Given the description of an element on the screen output the (x, y) to click on. 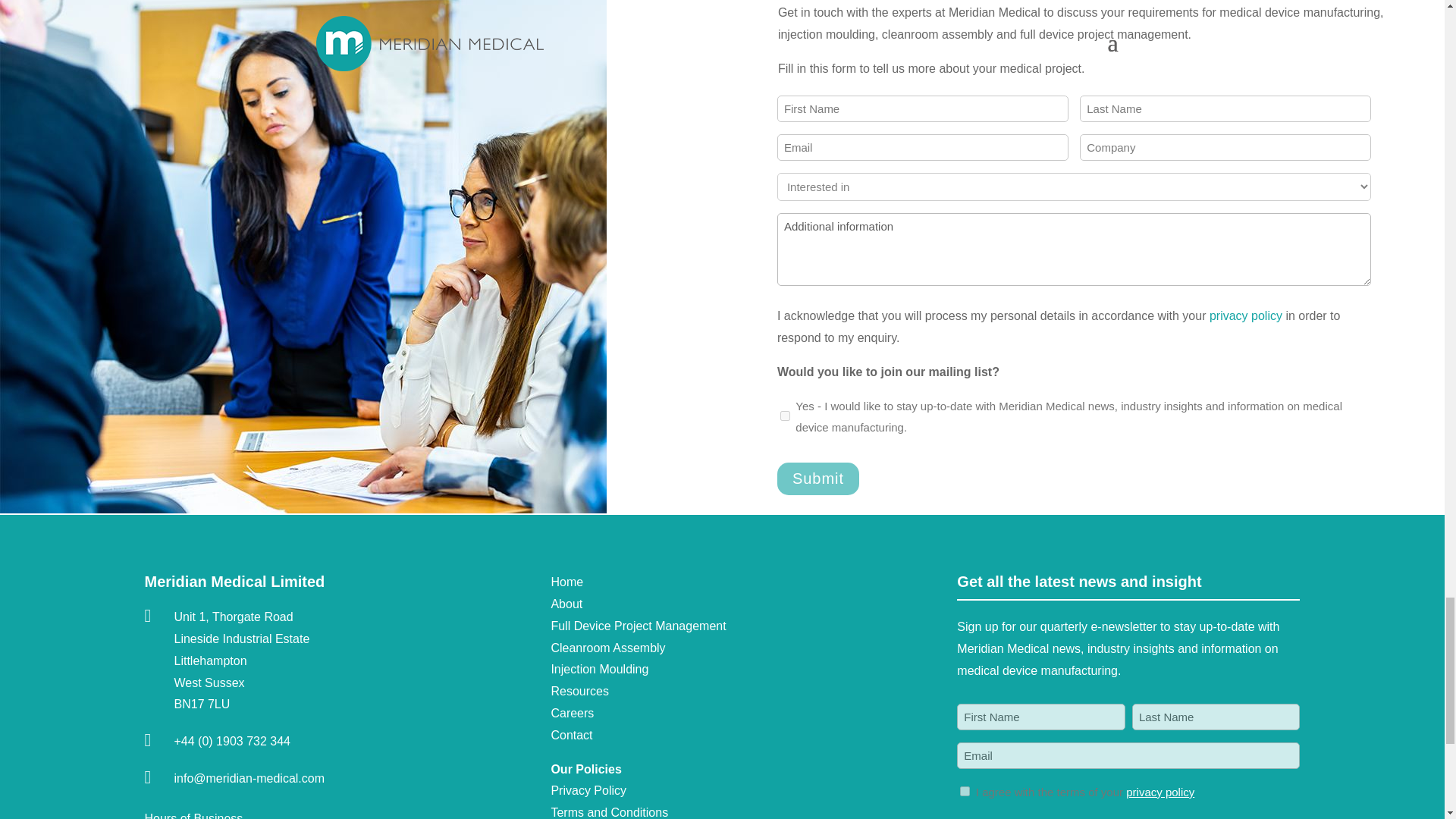
Submit (818, 478)
